Given the description of an element on the screen output the (x, y) to click on. 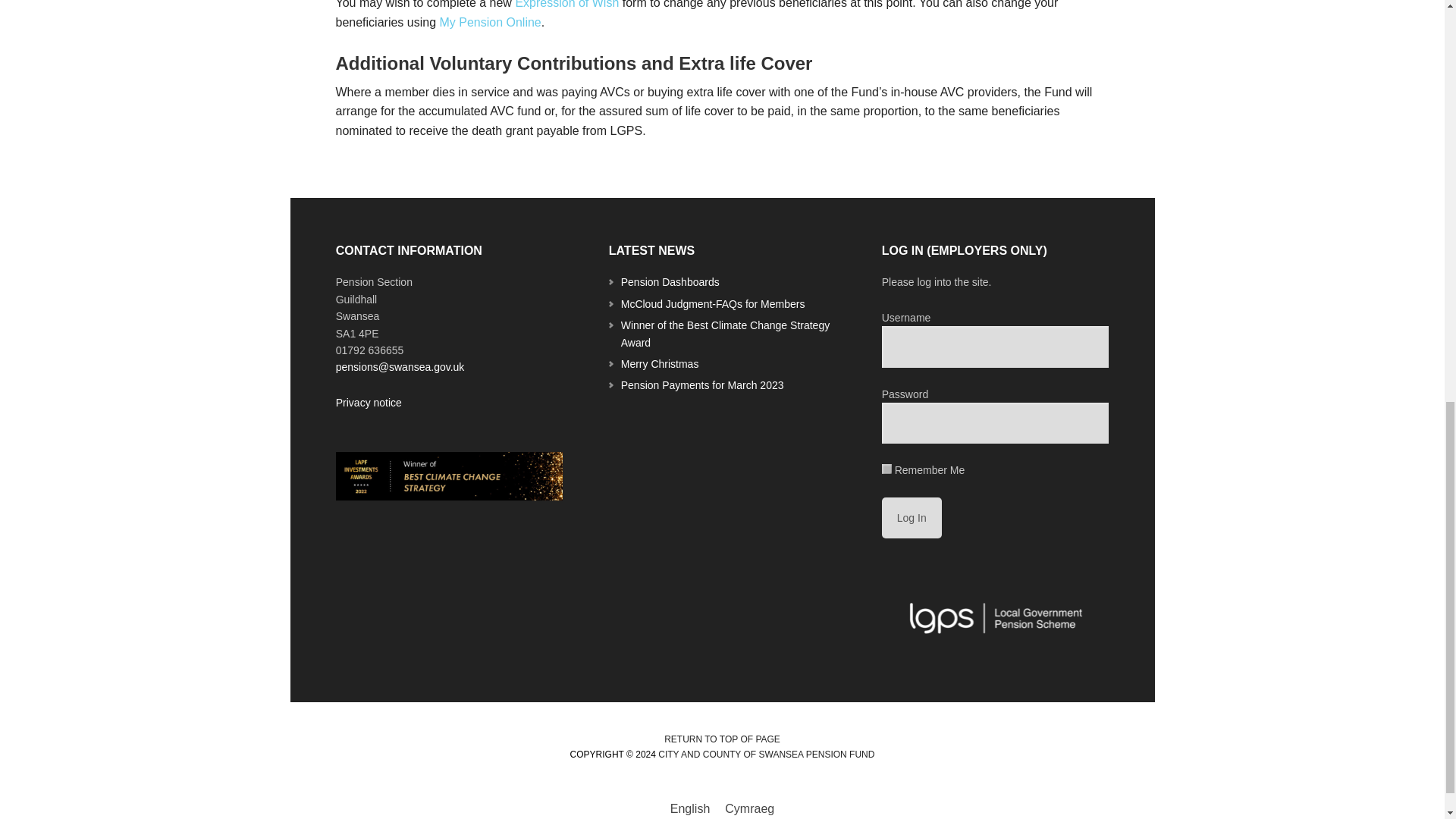
Log In (912, 517)
City and County of Swansea Pension Fund (766, 754)
forever (886, 469)
